Given the description of an element on the screen output the (x, y) to click on. 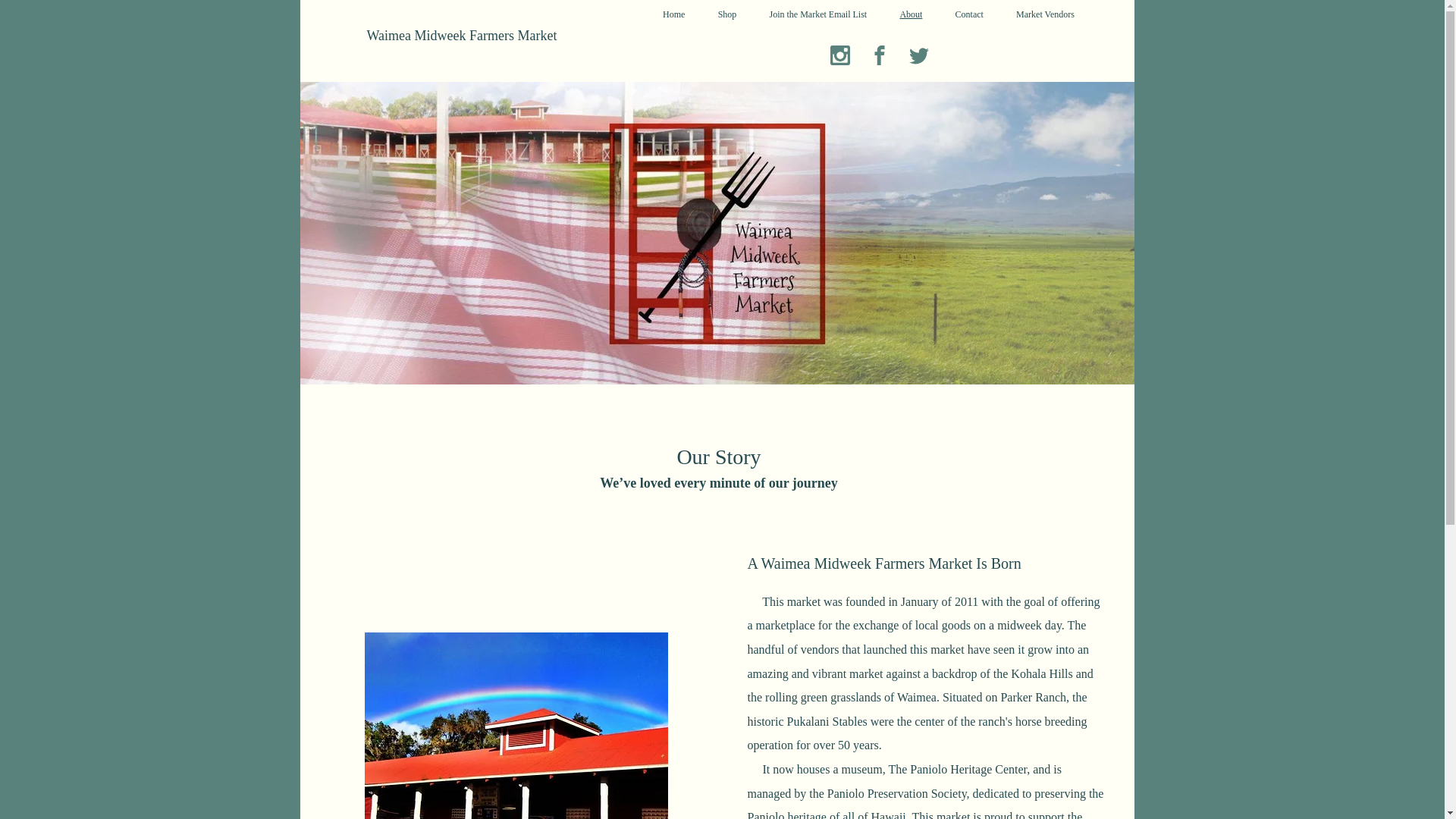
Shop (726, 14)
About (911, 14)
Market Vendors (1045, 14)
Join the Market Email List (817, 14)
Home (673, 14)
Contact (969, 14)
